Given the description of an element on the screen output the (x, y) to click on. 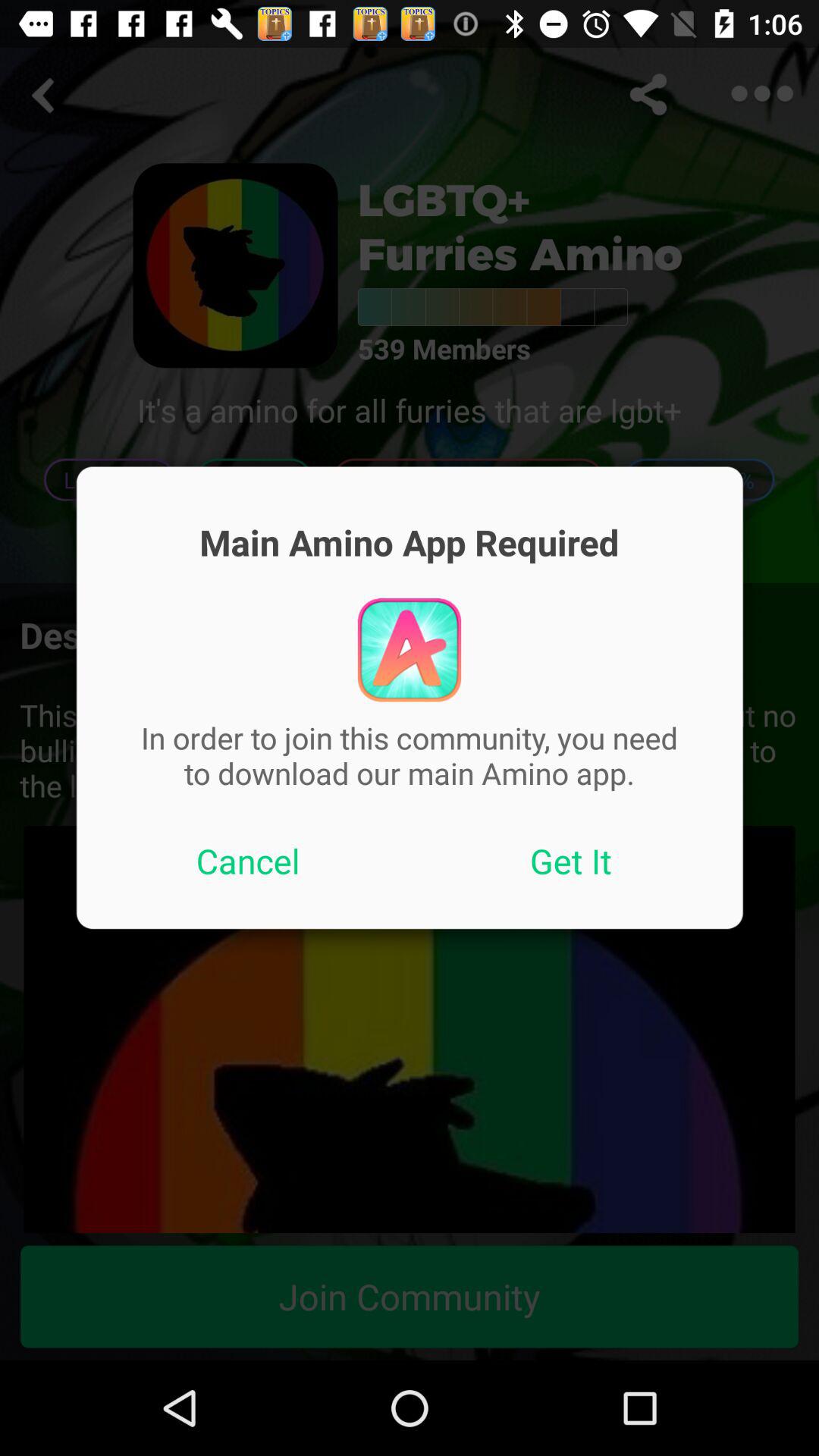
press icon on the right (570, 860)
